Given the description of an element on the screen output the (x, y) to click on. 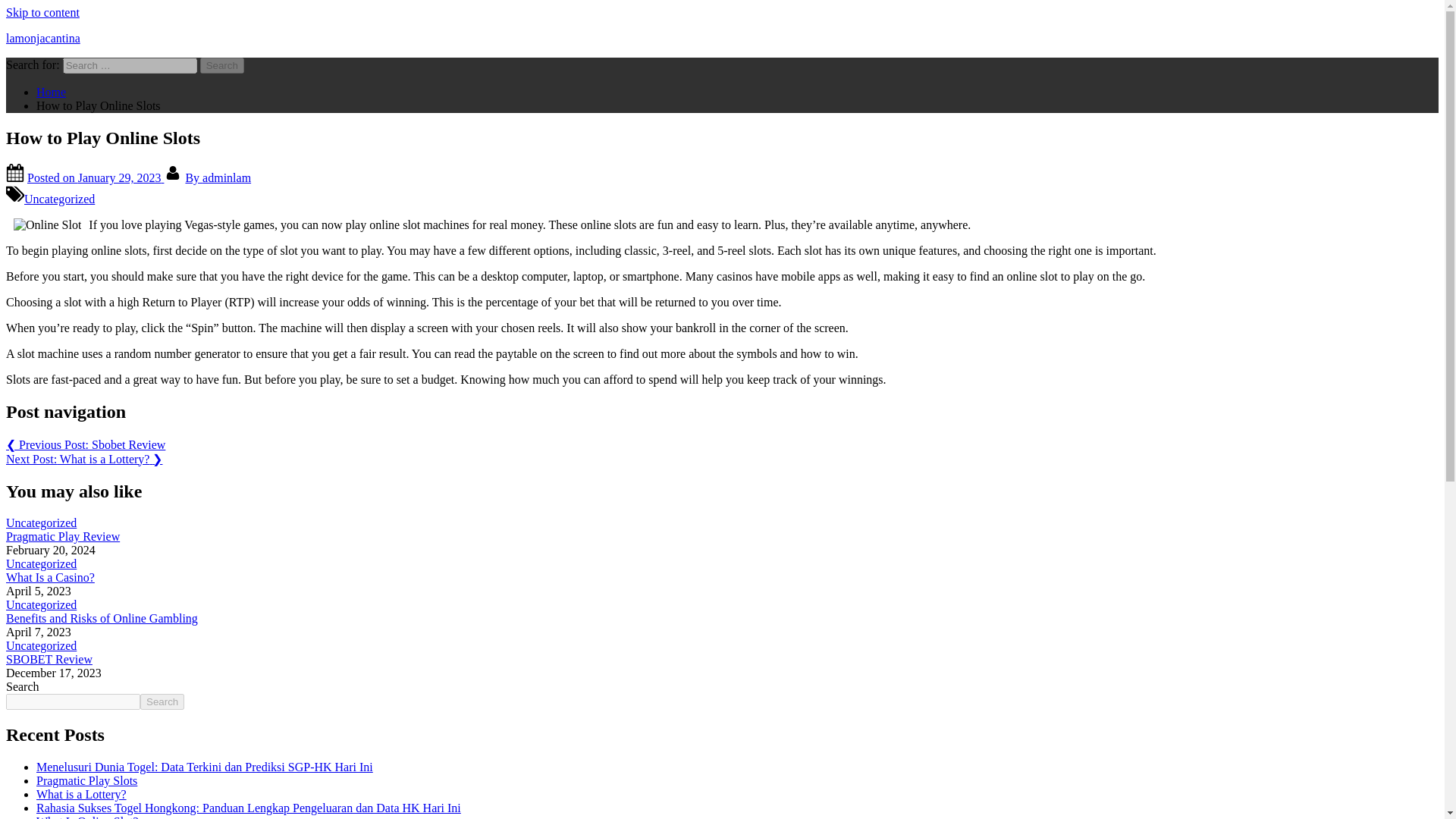
Home (50, 91)
Pragmatic Play Review (62, 535)
What is a Lottery? (81, 793)
Uncategorized (59, 198)
Search (222, 65)
Uncategorized (41, 645)
By adminlam (217, 177)
Posted on January 29, 2023 (95, 177)
What Is a Casino? (49, 576)
Skip to content (42, 11)
Uncategorized (41, 522)
Search (222, 65)
SBOBET Review (49, 658)
